Given the description of an element on the screen output the (x, y) to click on. 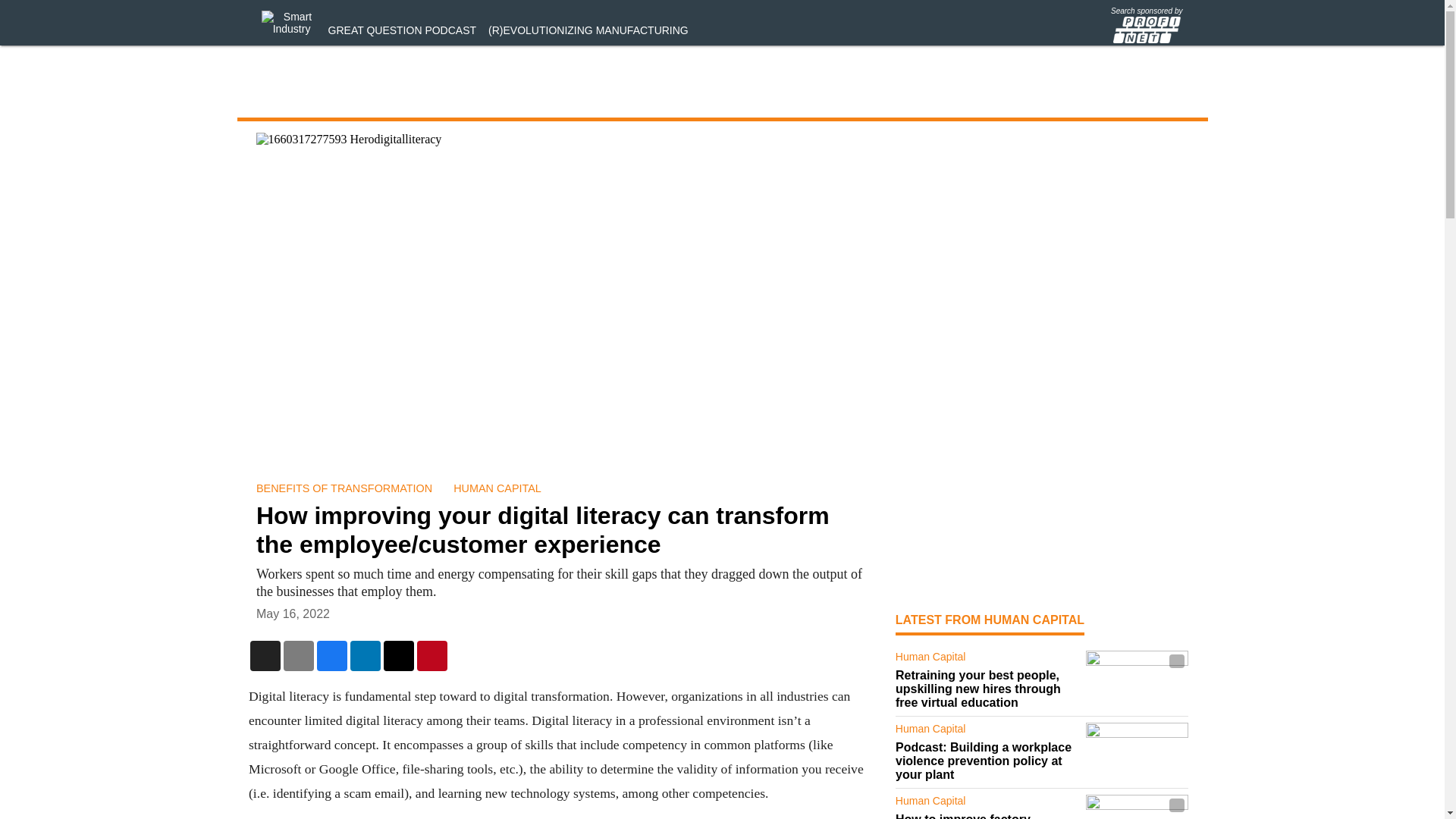
Human Capital (986, 803)
Human Capital (986, 659)
GREAT QUESTION PODCAST (403, 30)
BENEFITS OF TRANSFORMATION (344, 488)
Human Capital (986, 731)
HUMAN CAPITAL (496, 488)
